Given the description of an element on the screen output the (x, y) to click on. 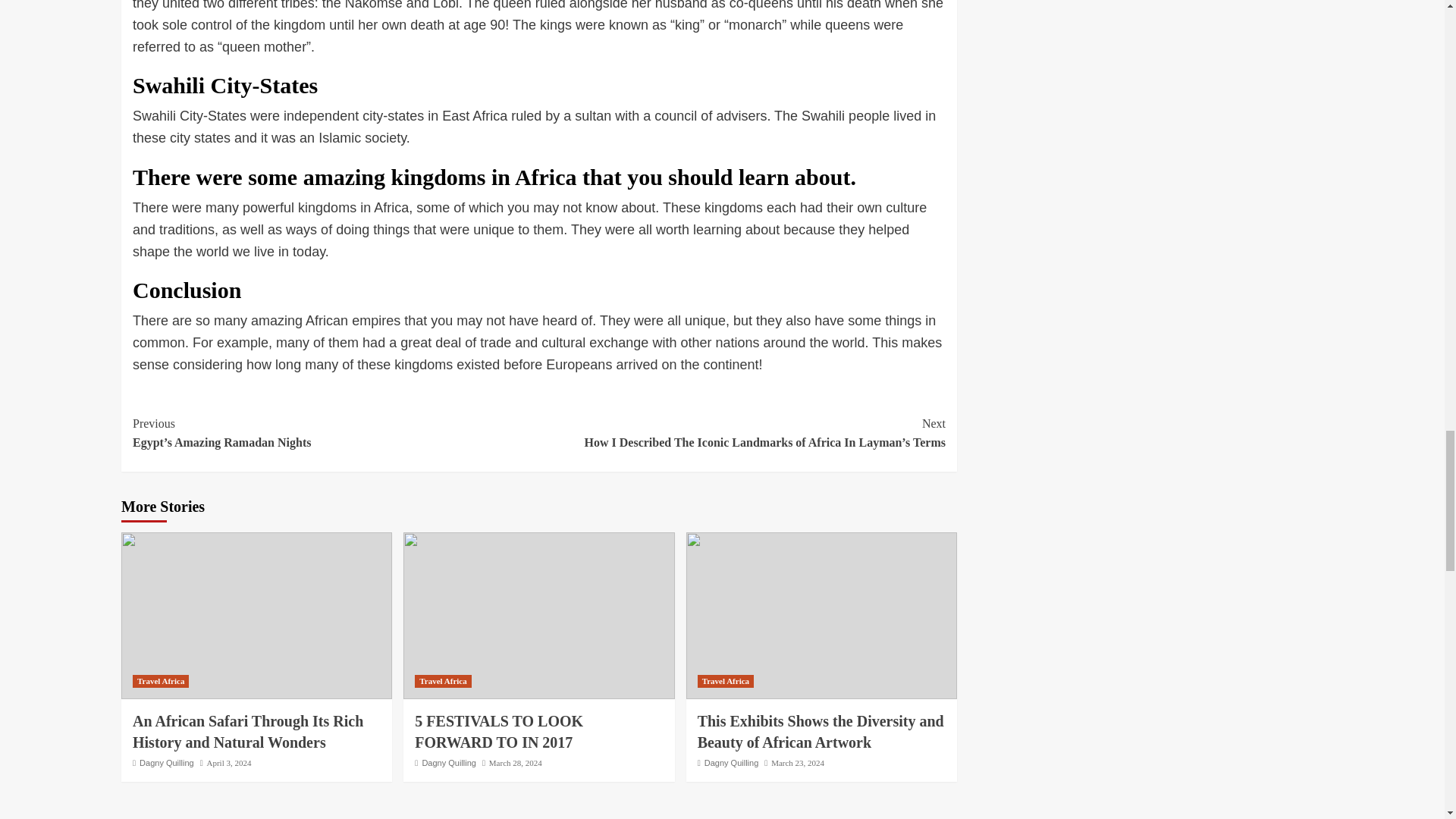
Dagny Quilling (166, 762)
Dagny Quilling (449, 762)
Travel Africa (160, 680)
Travel Africa (442, 680)
March 28, 2024 (515, 762)
April 3, 2024 (228, 762)
Travel Africa (725, 680)
Dagny Quilling (731, 762)
